Given the description of an element on the screen output the (x, y) to click on. 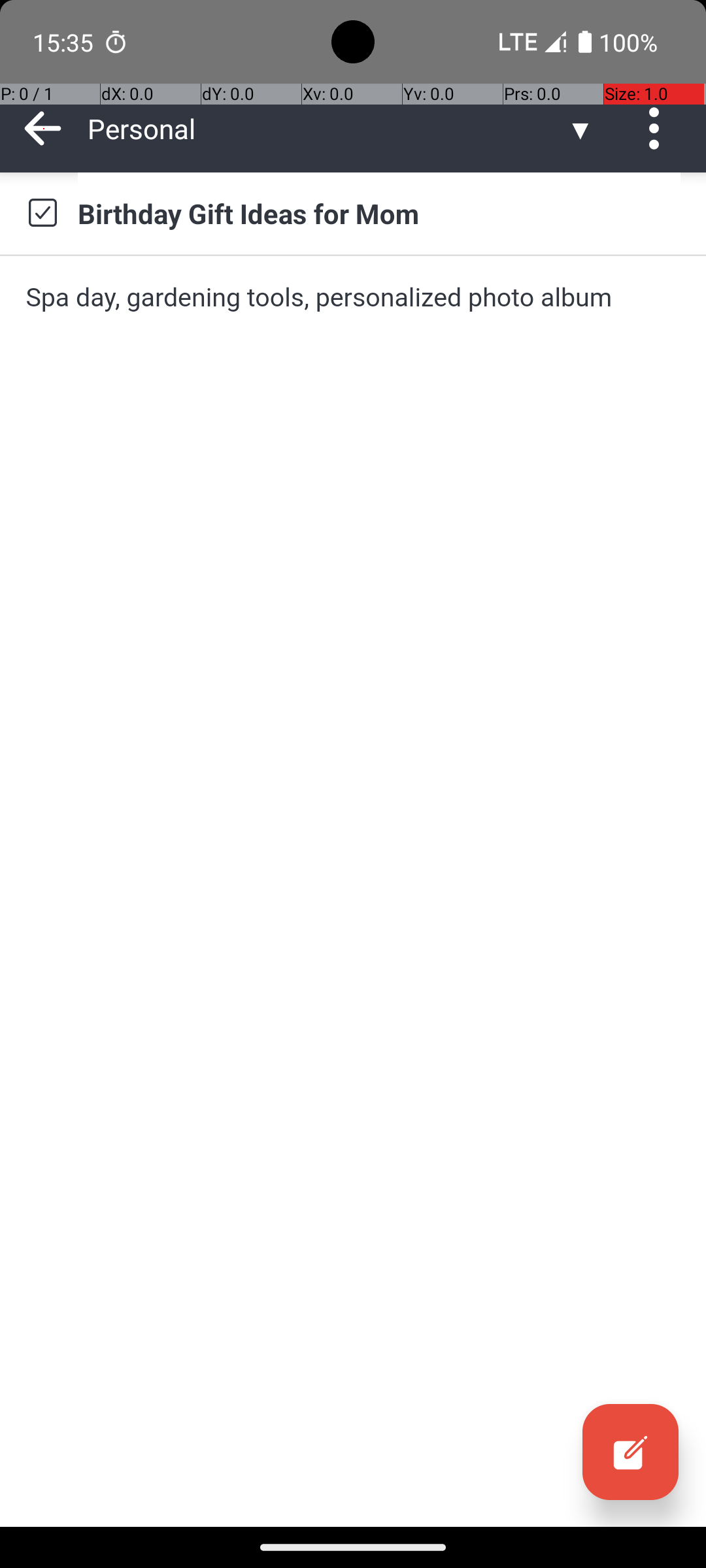
Birthday Gift Ideas for Mom Element type: android.widget.EditText (378, 213)
Spa day, gardening tools, personalized photo album Element type: android.widget.TextView (352, 296)
